Given the description of an element on the screen output the (x, y) to click on. 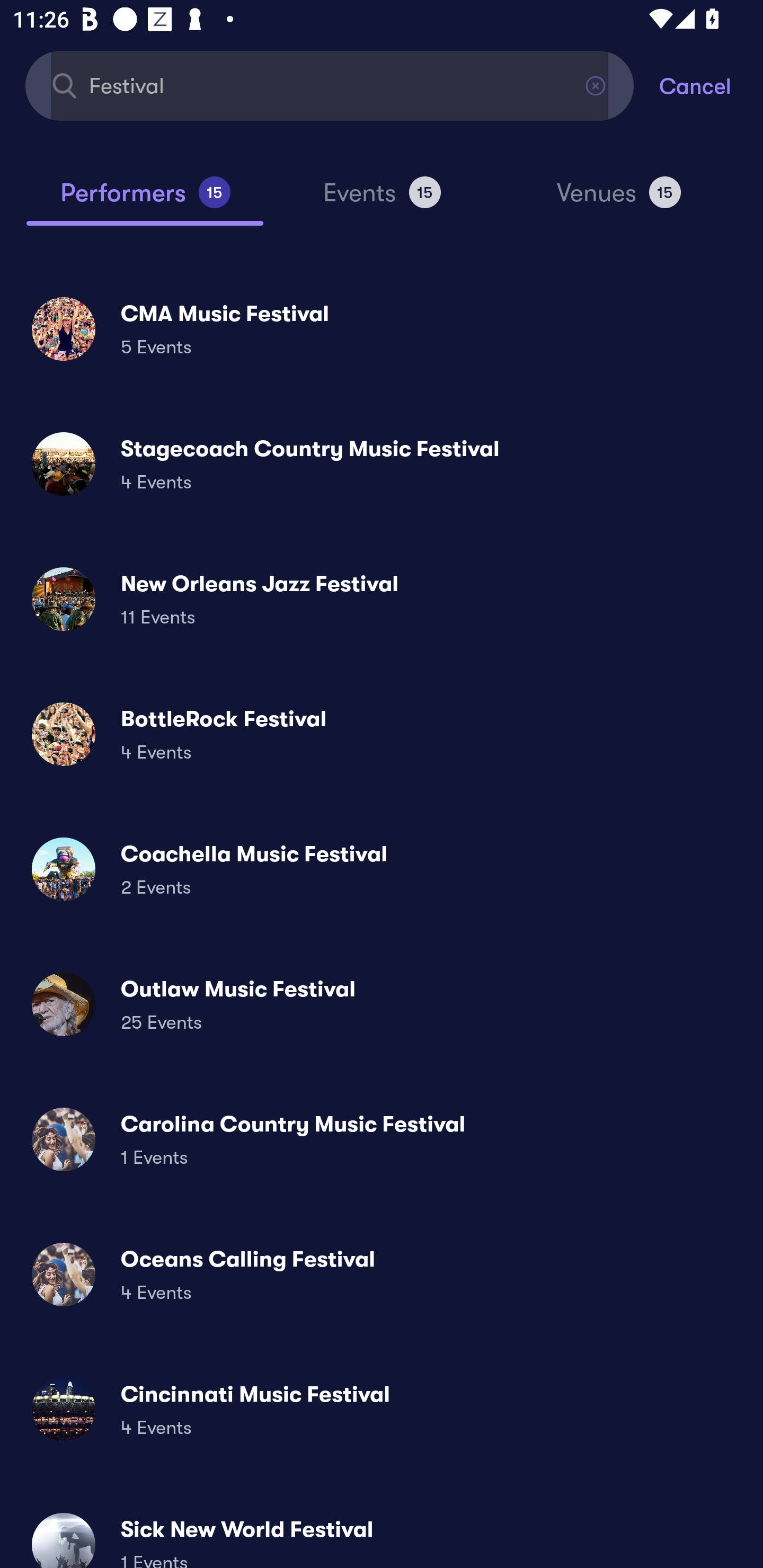
Festival Find (329, 85)
Festival Find (329, 85)
Cancel (711, 85)
Performers 15 (144, 200)
Events 15 (381, 200)
Venues 15 (618, 200)
CMA Music Festival 5 Events (381, 328)
Stagecoach Country Music Festival 4 Events (381, 464)
New Orleans Jazz Festival 11 Events (381, 598)
BottleRock Festival 4 Events (381, 734)
Coachella Music Festival 2 Events (381, 869)
Outlaw Music Festival 25 Events (381, 1004)
Carolina Country Music Festival 1 Events (381, 1138)
Oceans Calling Festival 4 Events (381, 1273)
Cincinnati Music Festival 4 Events (381, 1409)
Sick New World Festival 1 Events (381, 1532)
